Given the description of an element on the screen output the (x, y) to click on. 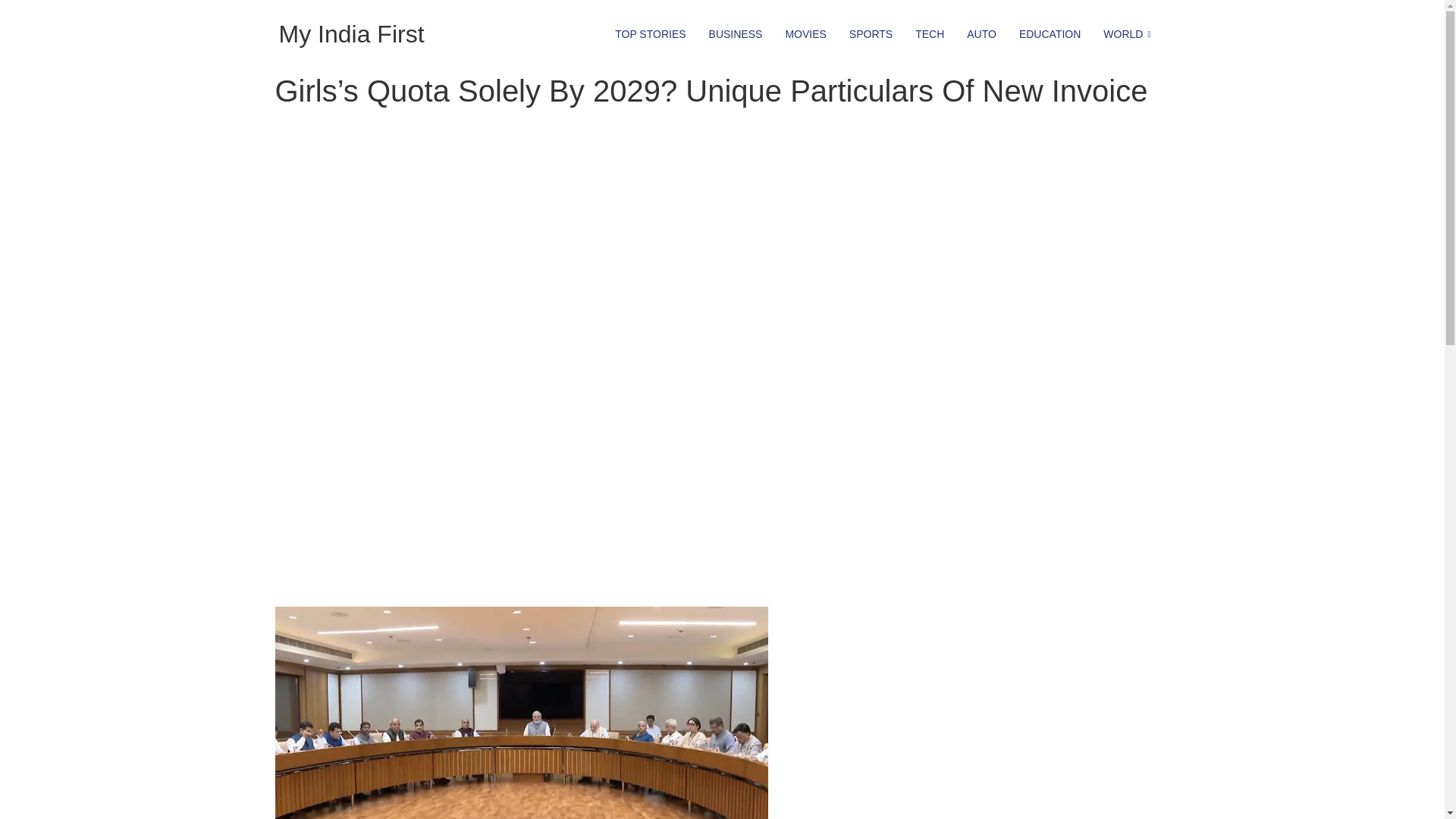
MOVIES (805, 33)
Advertisement (1007, 242)
BUSINESS (735, 33)
TECH (929, 33)
SPORTS (871, 33)
EDUCATION (1049, 33)
TOP STORIES (650, 33)
Advertisement (570, 465)
WORLD (1129, 33)
AUTO (981, 33)
